Given the description of an element on the screen output the (x, y) to click on. 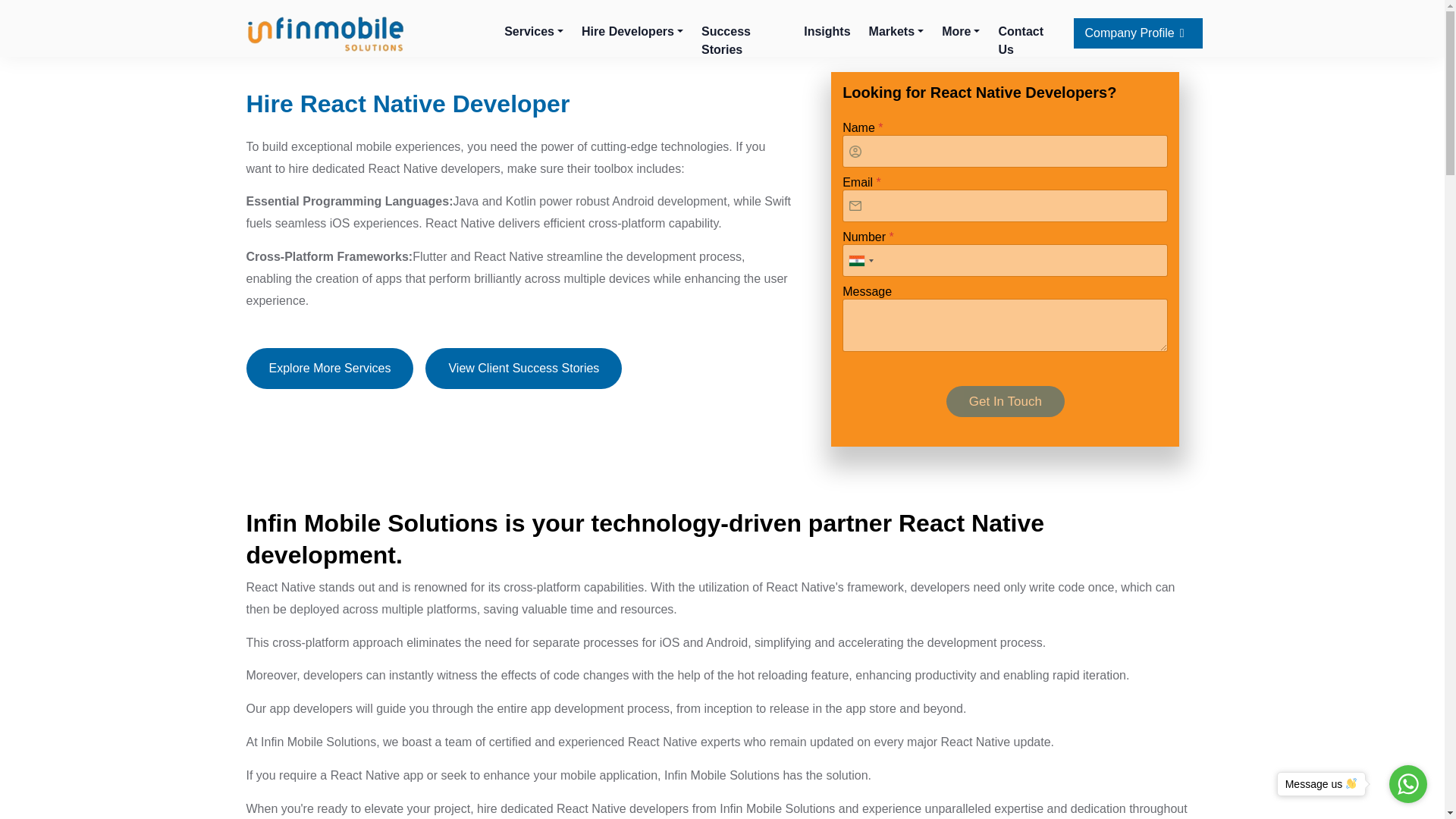
Services (533, 31)
Hire Developers (631, 31)
Hire Developers (631, 31)
Services (533, 31)
